Given the description of an element on the screen output the (x, y) to click on. 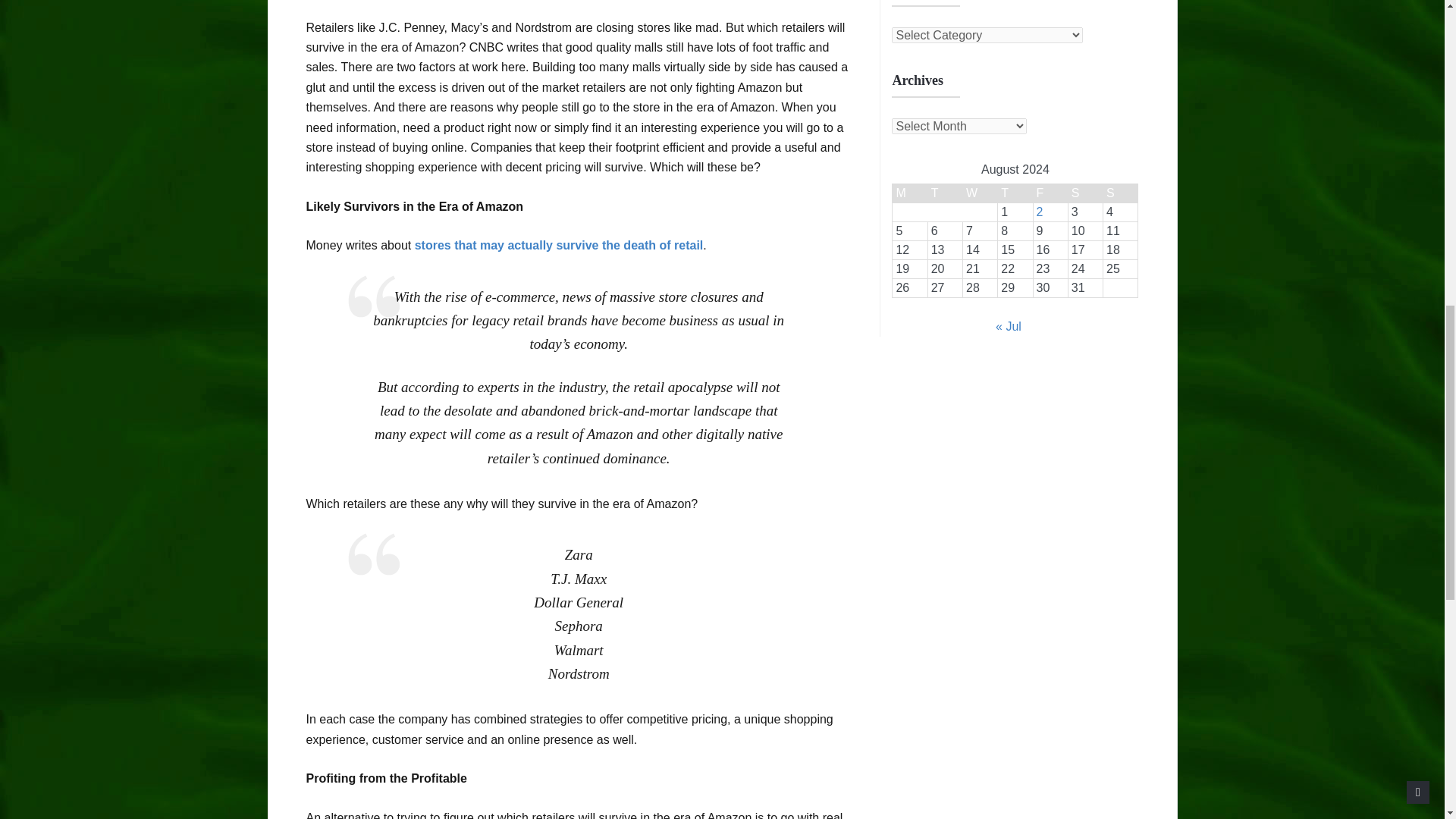
Saturday (1084, 192)
Sunday (1120, 192)
stores that may actually survive the death of retail (558, 245)
Monday (909, 192)
Tuesday (944, 192)
Thursday (1014, 192)
Friday (1049, 192)
Wednesday (979, 192)
